Given the description of an element on the screen output the (x, y) to click on. 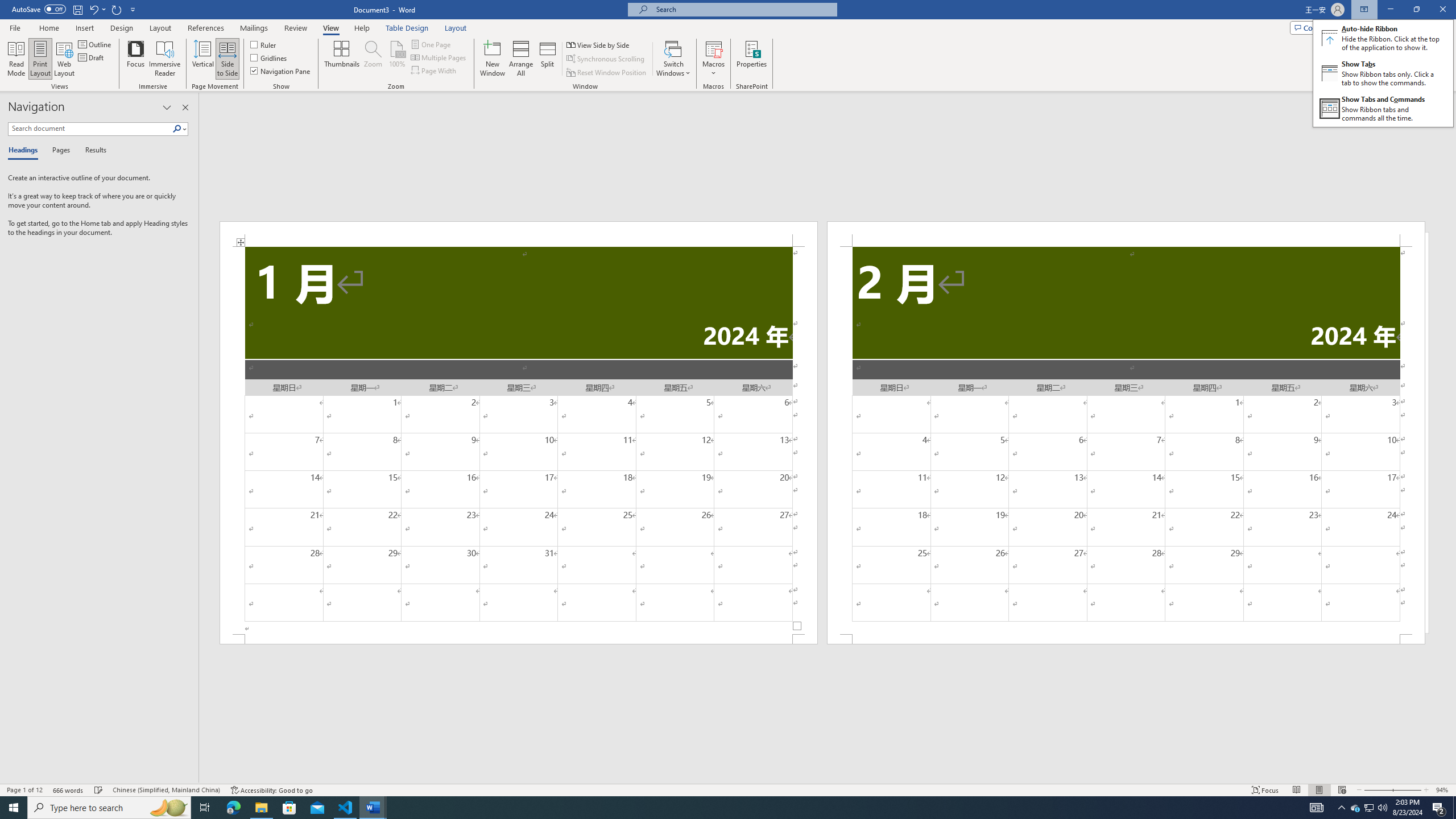
Action Center, 2 new notifications (1439, 807)
Layout (455, 28)
Focus (135, 58)
Microsoft Edge (233, 807)
Design (122, 28)
Word - 2 running windows (373, 807)
View Macros (713, 48)
Navigation Pane (281, 69)
Page Width (434, 69)
100% (396, 58)
Side to Side (1355, 807)
Repeat Doc Close (226, 58)
